Given the description of an element on the screen output the (x, y) to click on. 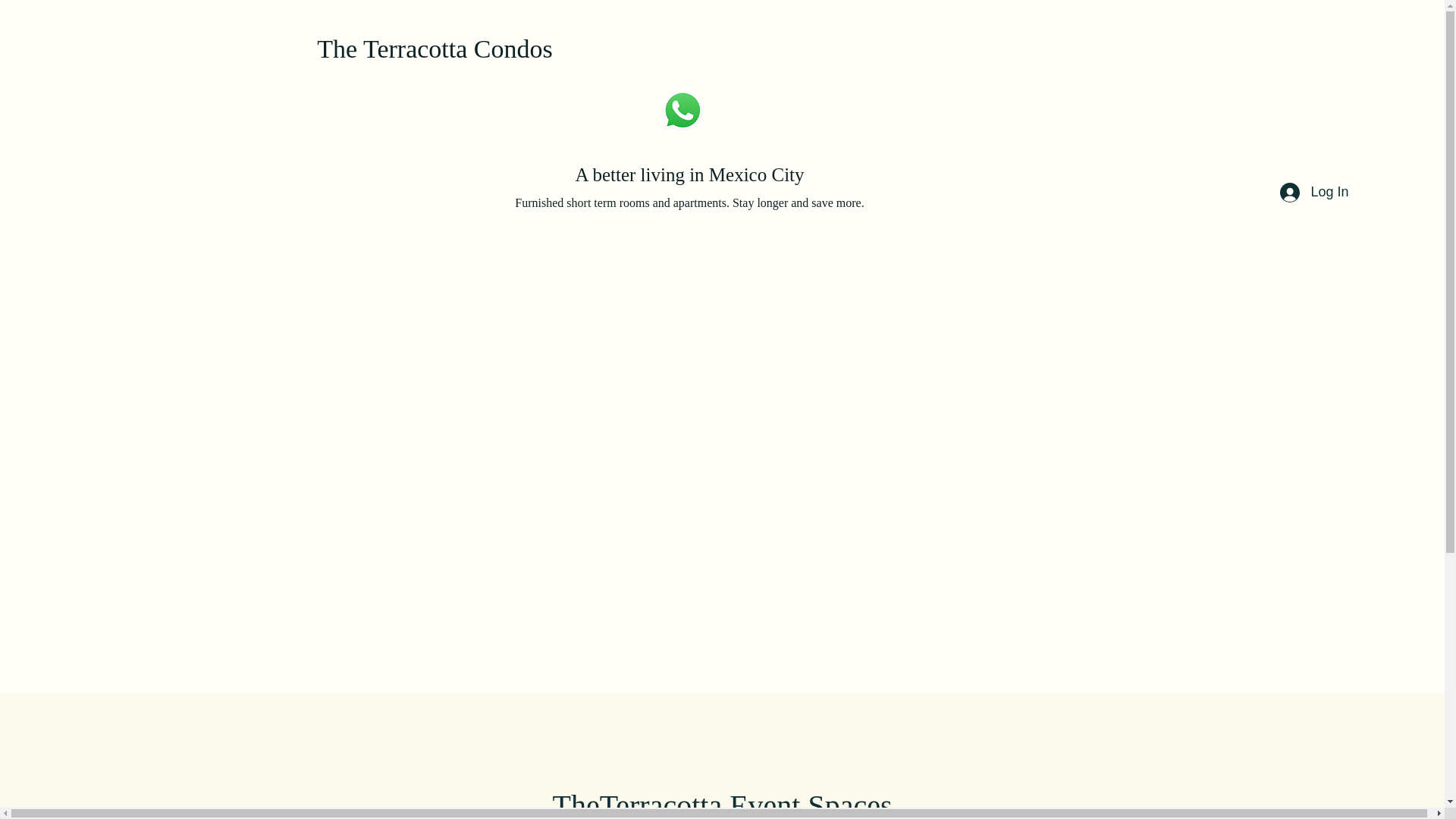
Log In (1313, 192)
